Given the description of an element on the screen output the (x, y) to click on. 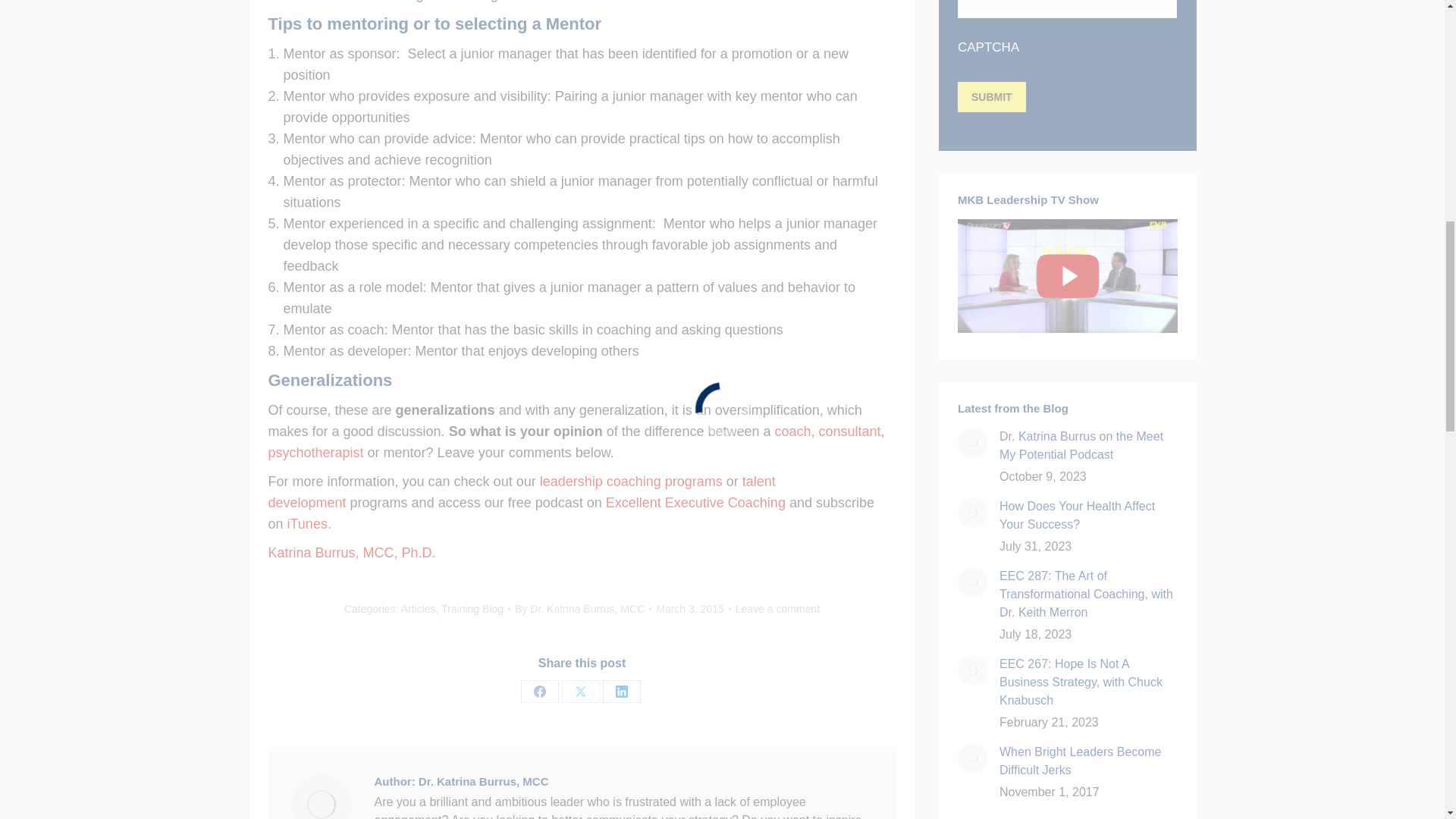
Facebook (538, 691)
Submit (990, 96)
LinkedIn (621, 691)
X (579, 691)
View all posts by Dr. Katrina Burrus, MCC (582, 608)
10:00 am (693, 608)
